Given the description of an element on the screen output the (x, y) to click on. 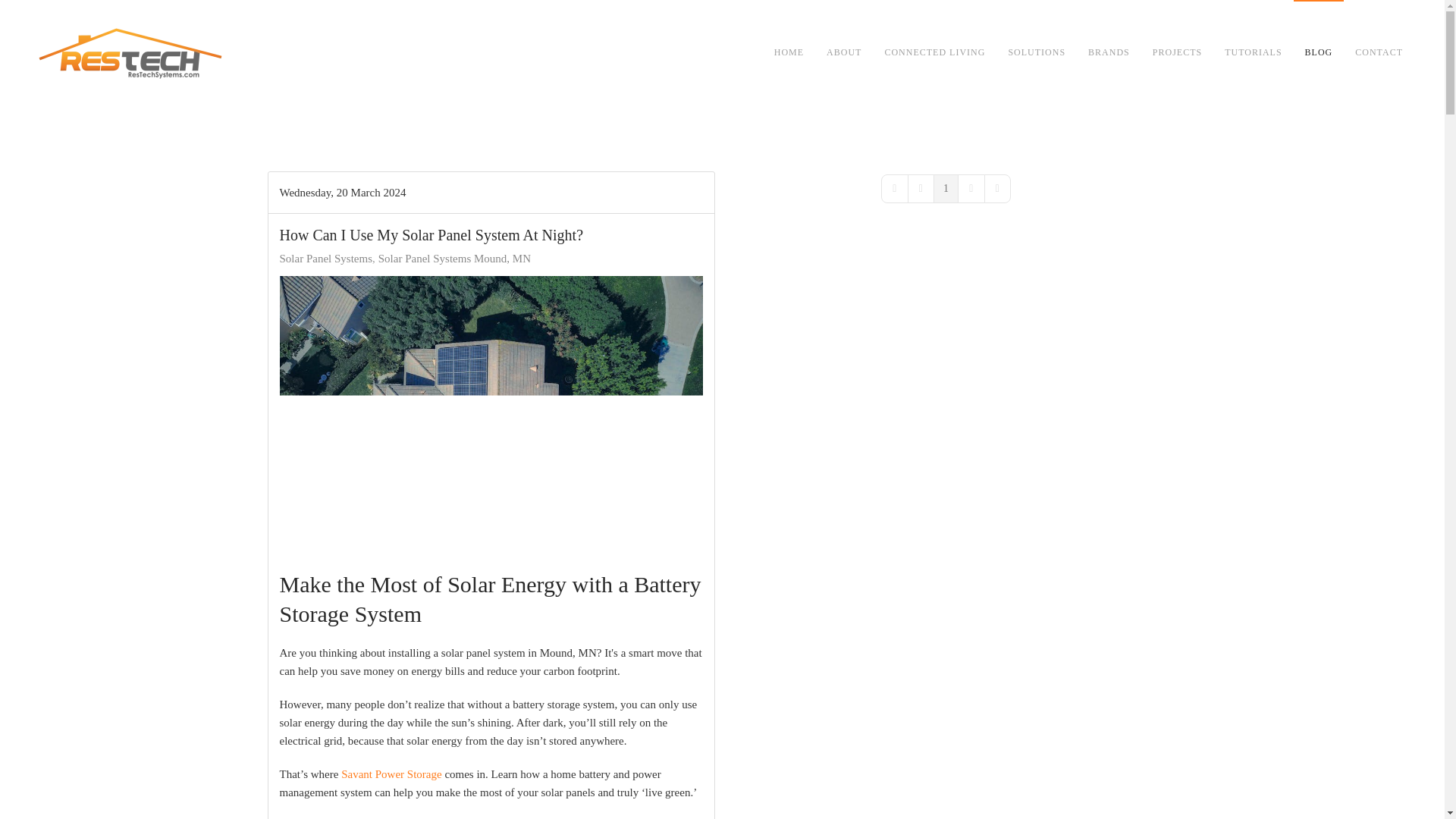
How Can I Use My Solar Panel System At Night? (490, 416)
CONNECTED LIVING (933, 53)
How Can I Use My Solar Panel System At Night? (431, 234)
